Given the description of an element on the screen output the (x, y) to click on. 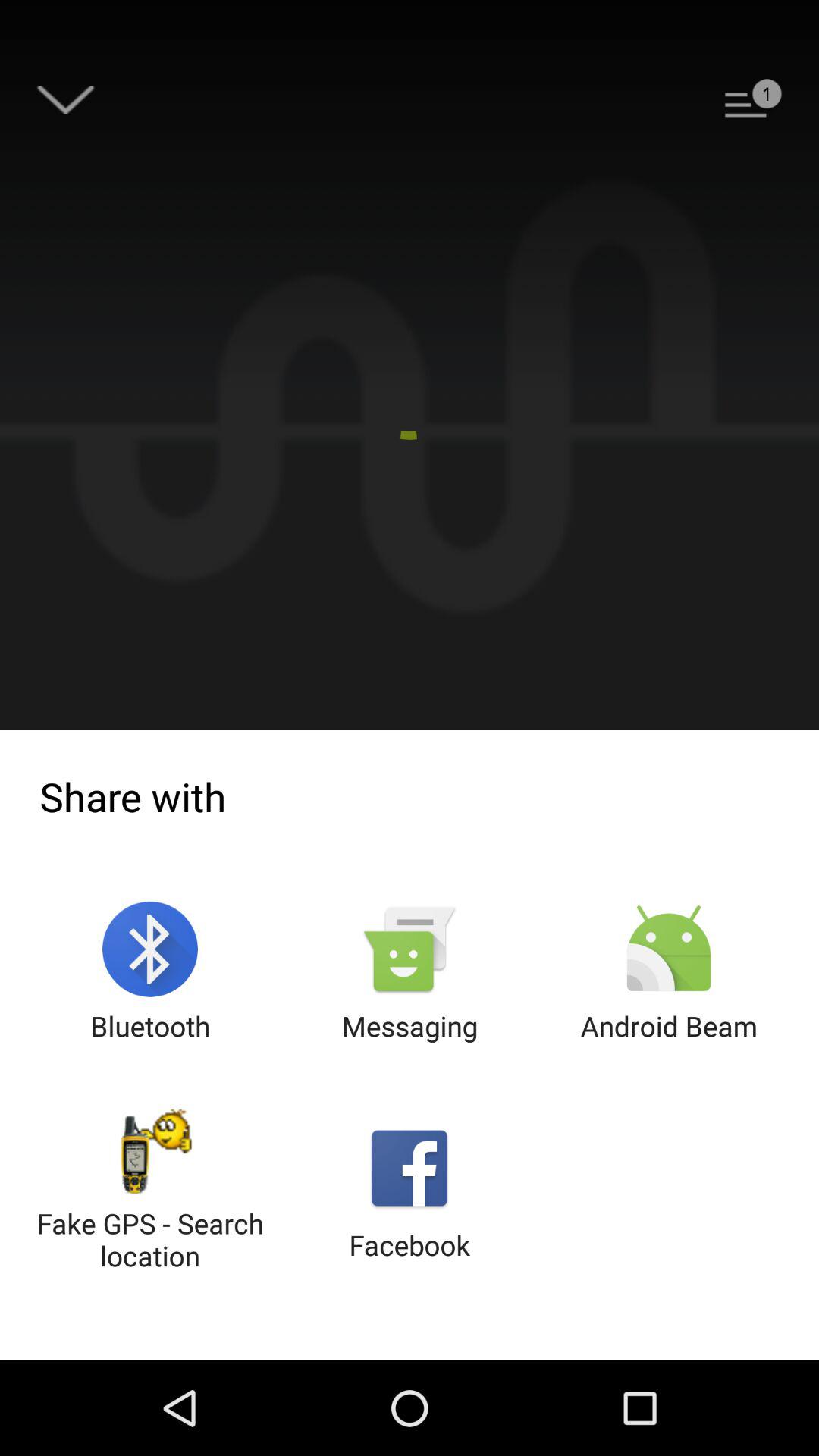
press item to the right of the bluetooth (409, 972)
